Given the description of an element on the screen output the (x, y) to click on. 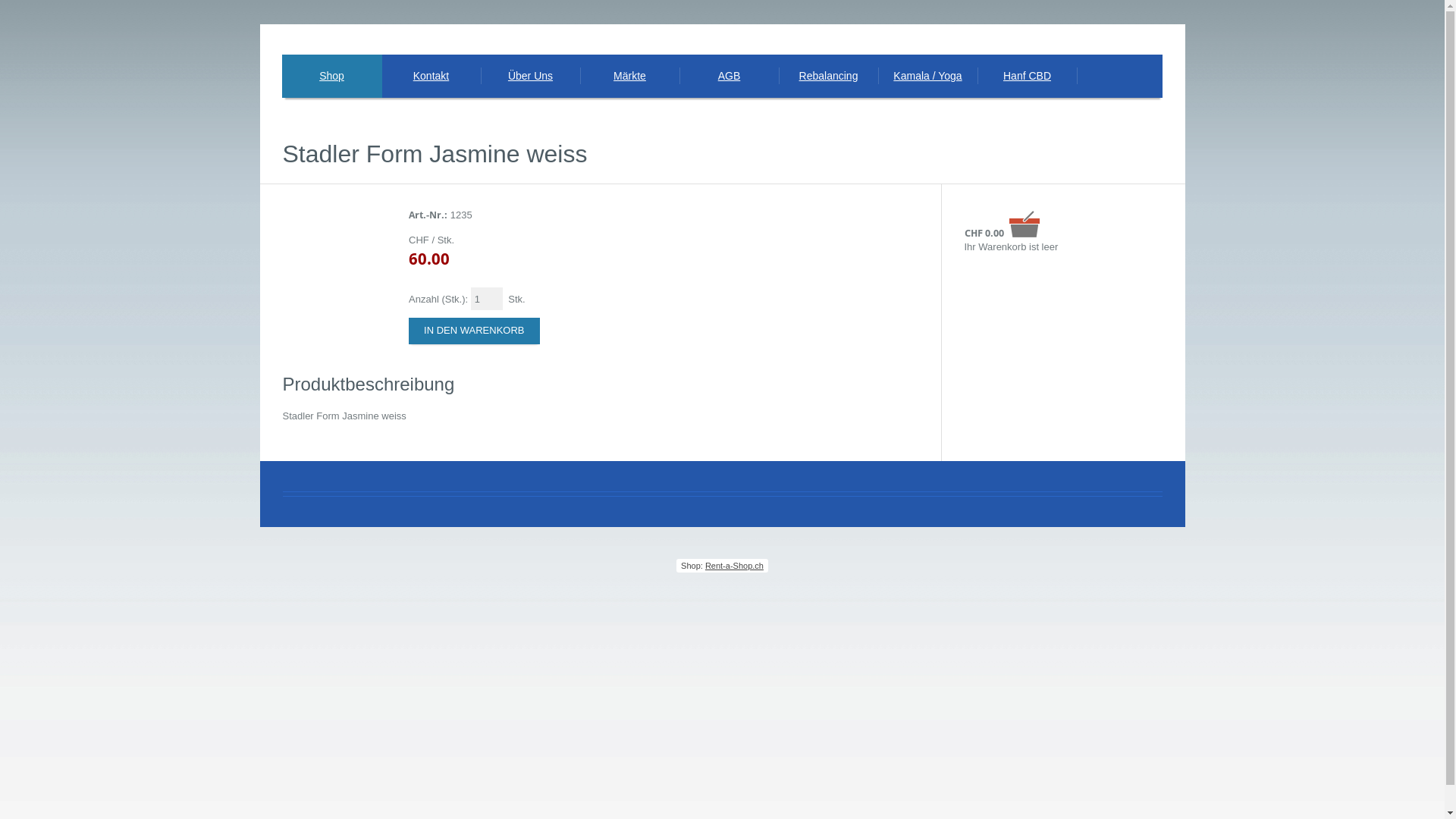
Hanf CBD Element type: text (1026, 75)
Kontakt Element type: text (430, 75)
Shop Element type: text (332, 75)
Rent-a-Shop.ch Element type: text (734, 565)
In den Warenkorb Element type: text (473, 330)
Rebalancing Element type: text (828, 75)
AGB Element type: text (729, 75)
Kamala / Yoga Element type: text (928, 75)
